Given the description of an element on the screen output the (x, y) to click on. 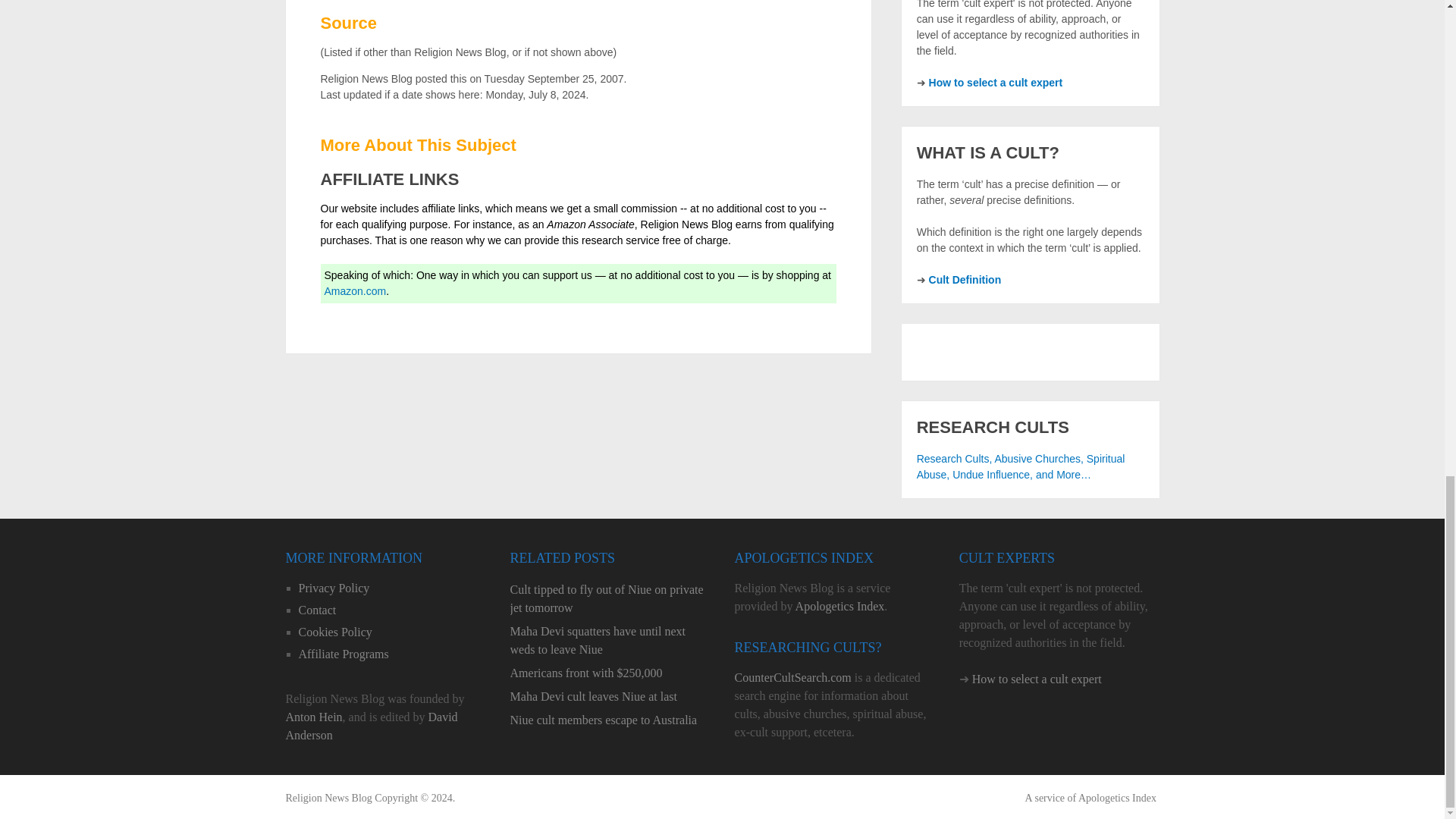
Maha Devi cult leaves Niue at last (610, 696)
Affiliate Programs (343, 653)
 Religion news: religious cults, sects, and world religions (328, 797)
Contact (317, 609)
Maha Devi squatters have until next weds to leave Niue (610, 640)
Cookies Policy (335, 631)
Amazon.com (355, 291)
How to select a cult expert (995, 82)
Niue cult members escape to Australia (610, 720)
Privacy Policy (333, 587)
